Given the description of an element on the screen output the (x, y) to click on. 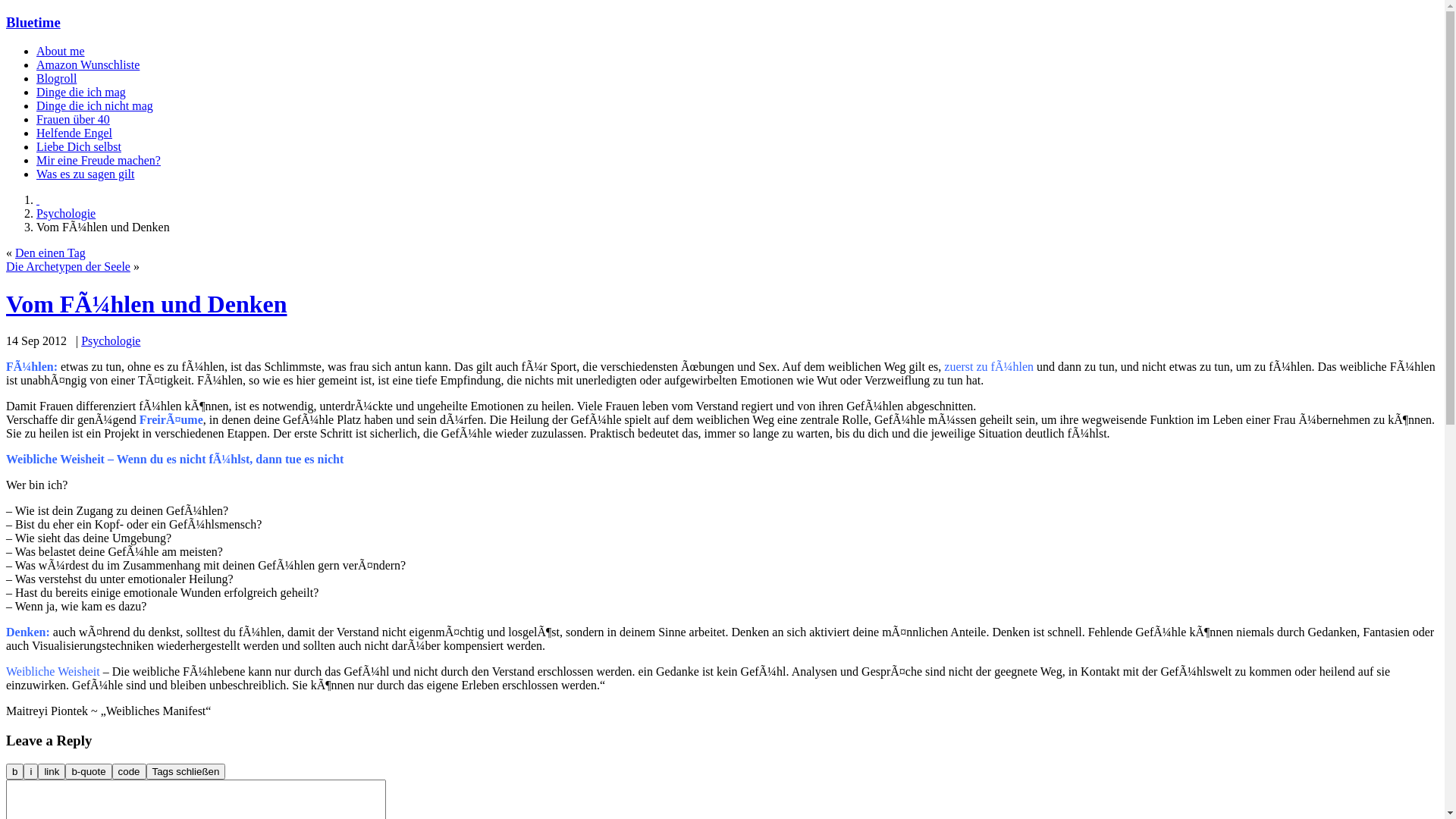
Liebe Dich selbst Element type: text (78, 146)
Amazon Wunschliste Element type: text (87, 64)
About me Element type: text (60, 50)
Blogroll Element type: text (56, 78)
Helfende Engel Element type: text (74, 132)
Dinge die ich nicht mag Element type: text (94, 105)
Dinge die ich mag Element type: text (80, 91)
Psychologie Element type: text (65, 213)
Den einen Tag Element type: text (50, 252)
Mir eine Freude machen? Element type: text (98, 159)
Was es zu sagen gilt Element type: text (85, 173)
Bluetime Element type: text (33, 22)
Psychologie Element type: text (110, 340)
Die Archetypen der Seele Element type: text (68, 266)
  Element type: text (37, 199)
